Given the description of an element on the screen output the (x, y) to click on. 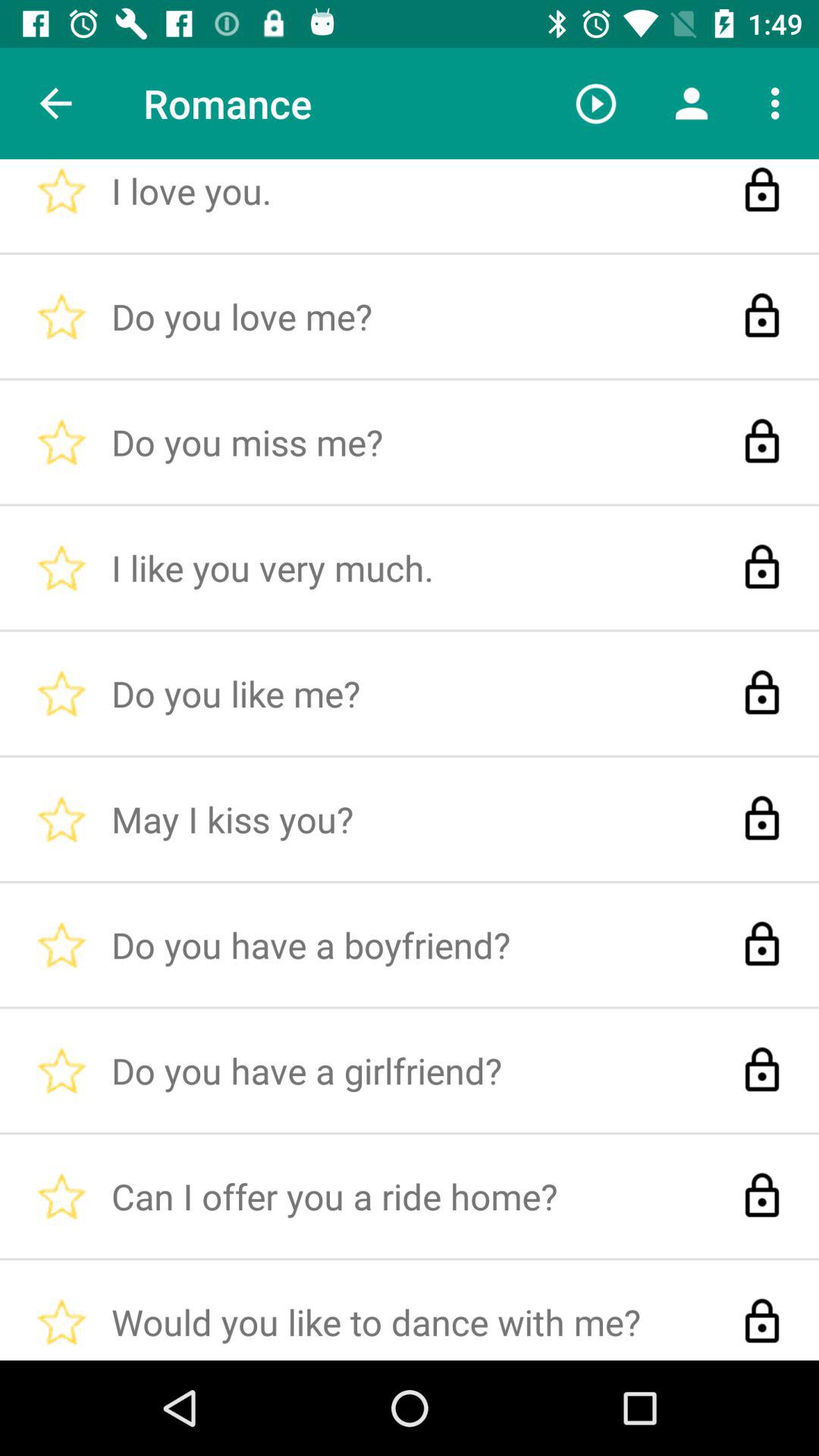
select the item above the can i offer item (595, 103)
